Given the description of an element on the screen output the (x, y) to click on. 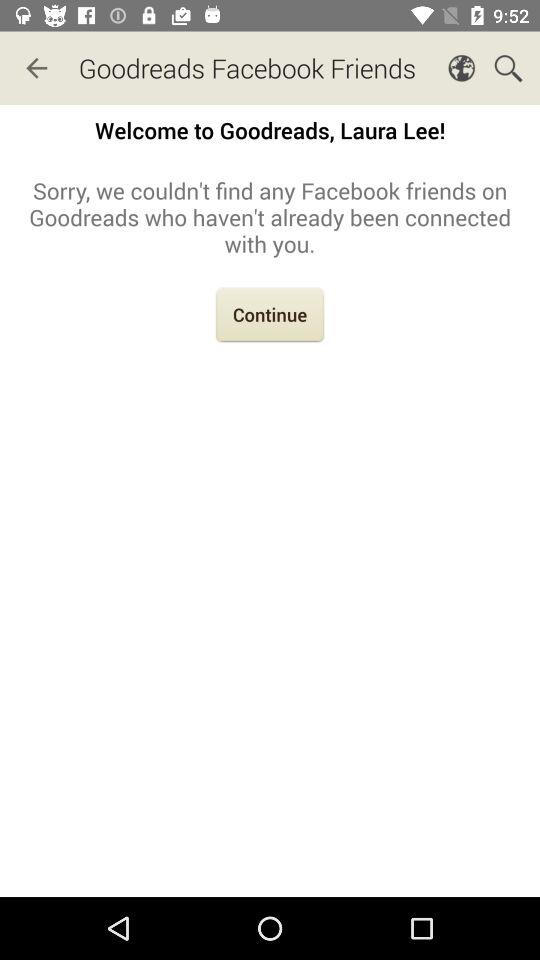
press the icon at the top left corner (36, 68)
